Given the description of an element on the screen output the (x, y) to click on. 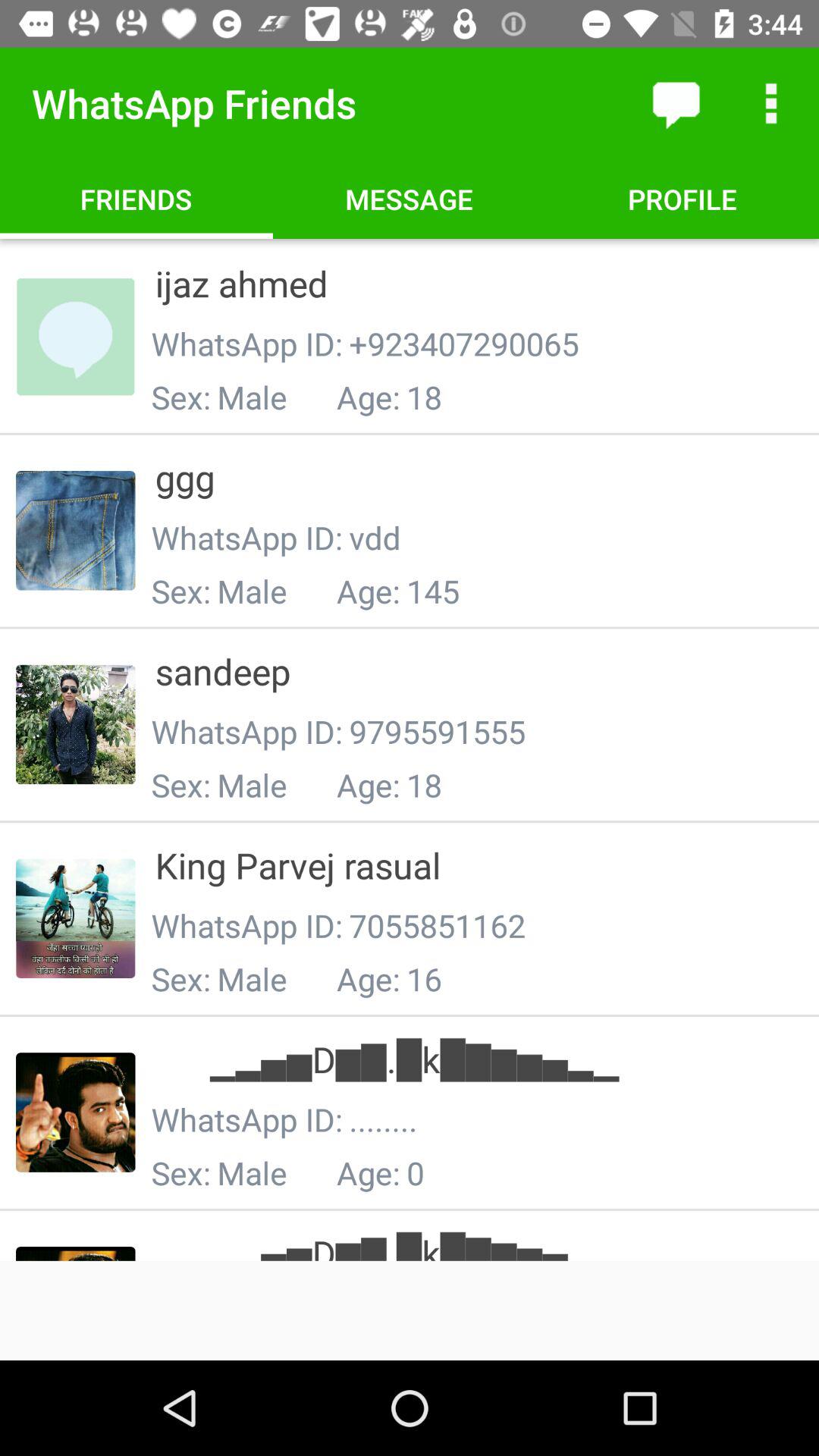
write new message (675, 103)
